Given the description of an element on the screen output the (x, y) to click on. 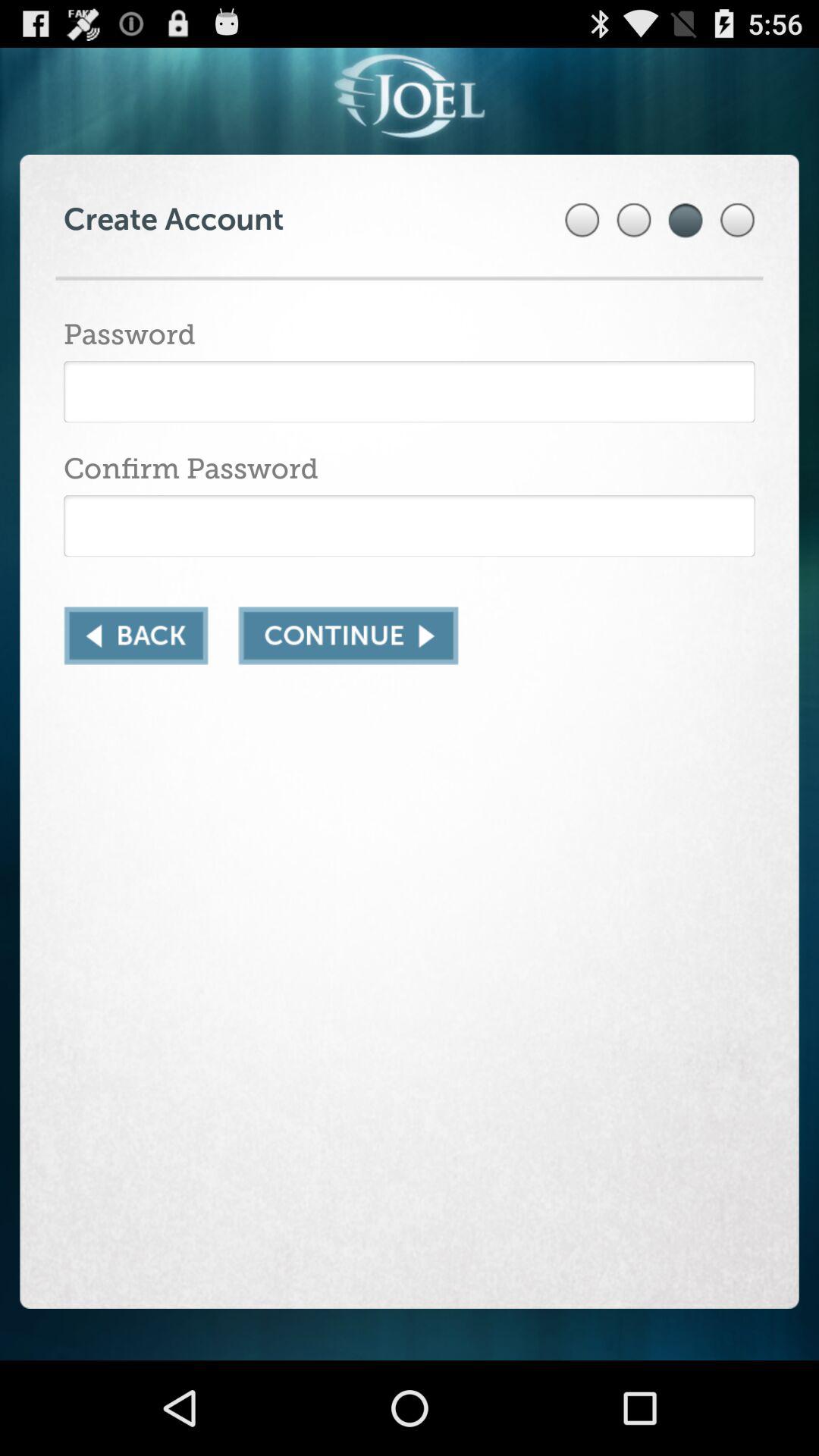
continue button (348, 635)
